Given the description of an element on the screen output the (x, y) to click on. 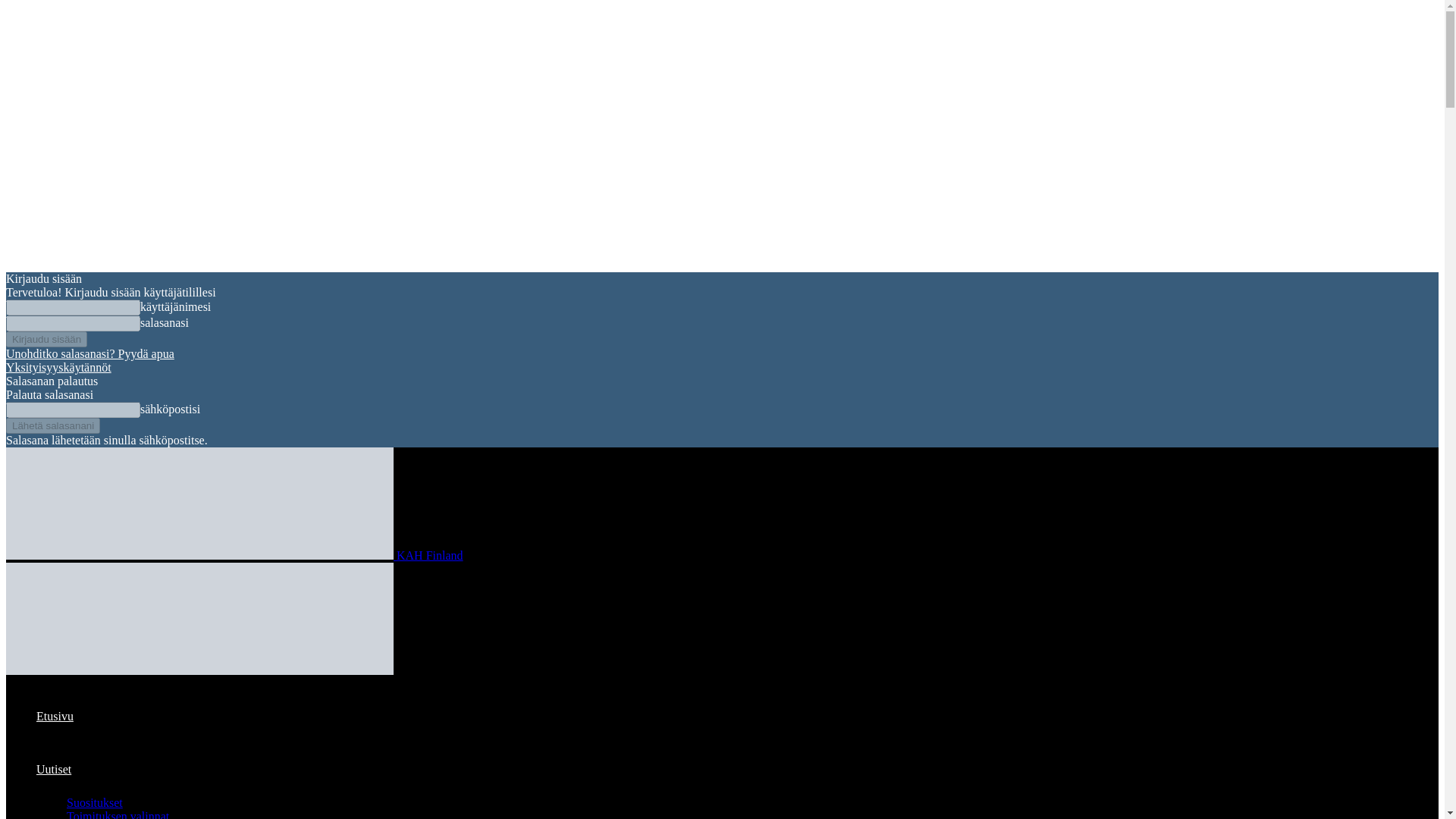
Suositukset (94, 802)
KAH Finland (234, 554)
Uutiset (53, 768)
Etusivu (55, 716)
Toimituksen valinnat (117, 814)
